Given the description of an element on the screen output the (x, y) to click on. 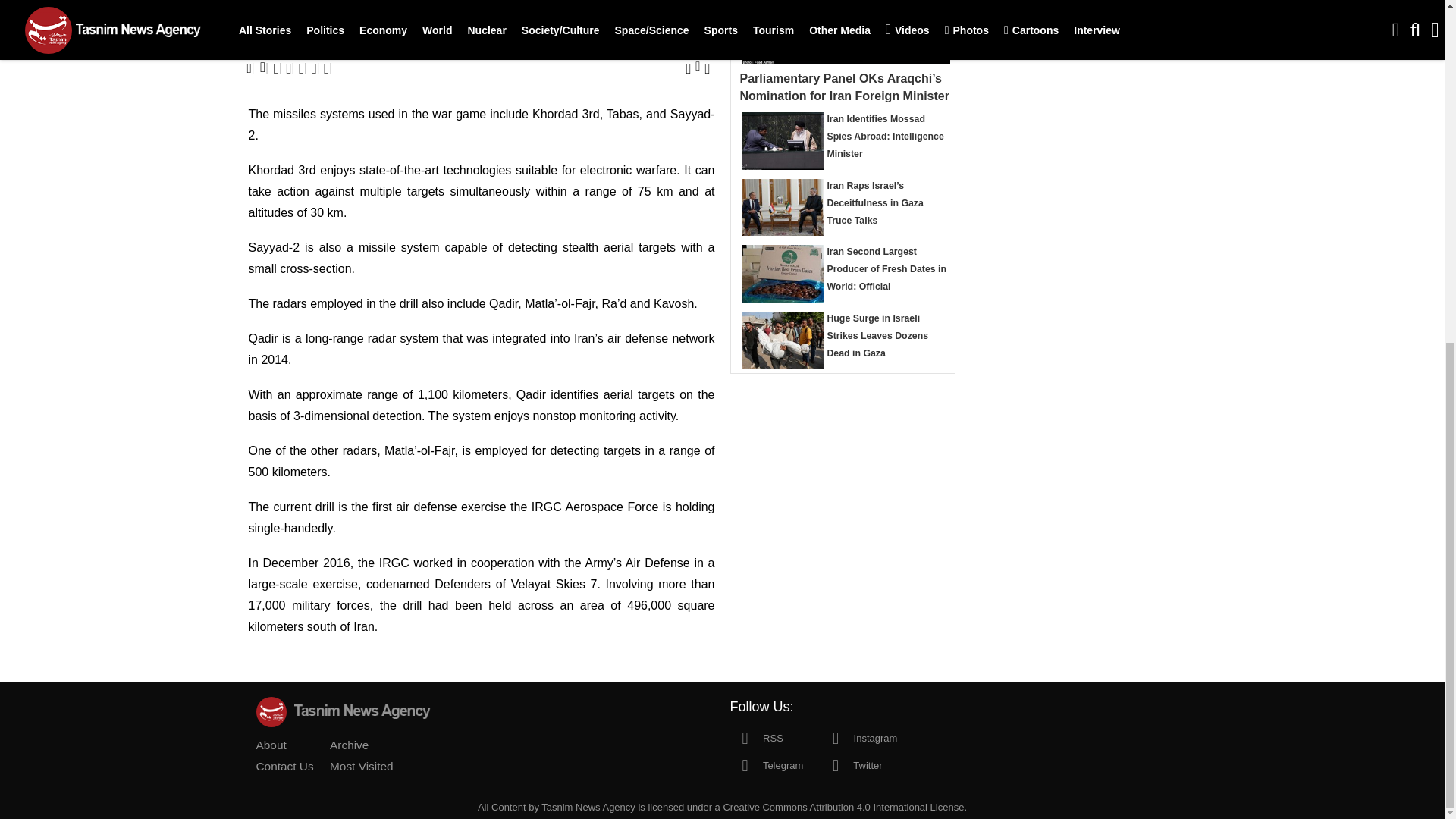
Twitter (851, 764)
Telegram (766, 764)
RSS (756, 736)
Instagram (858, 736)
